Given the description of an element on the screen output the (x, y) to click on. 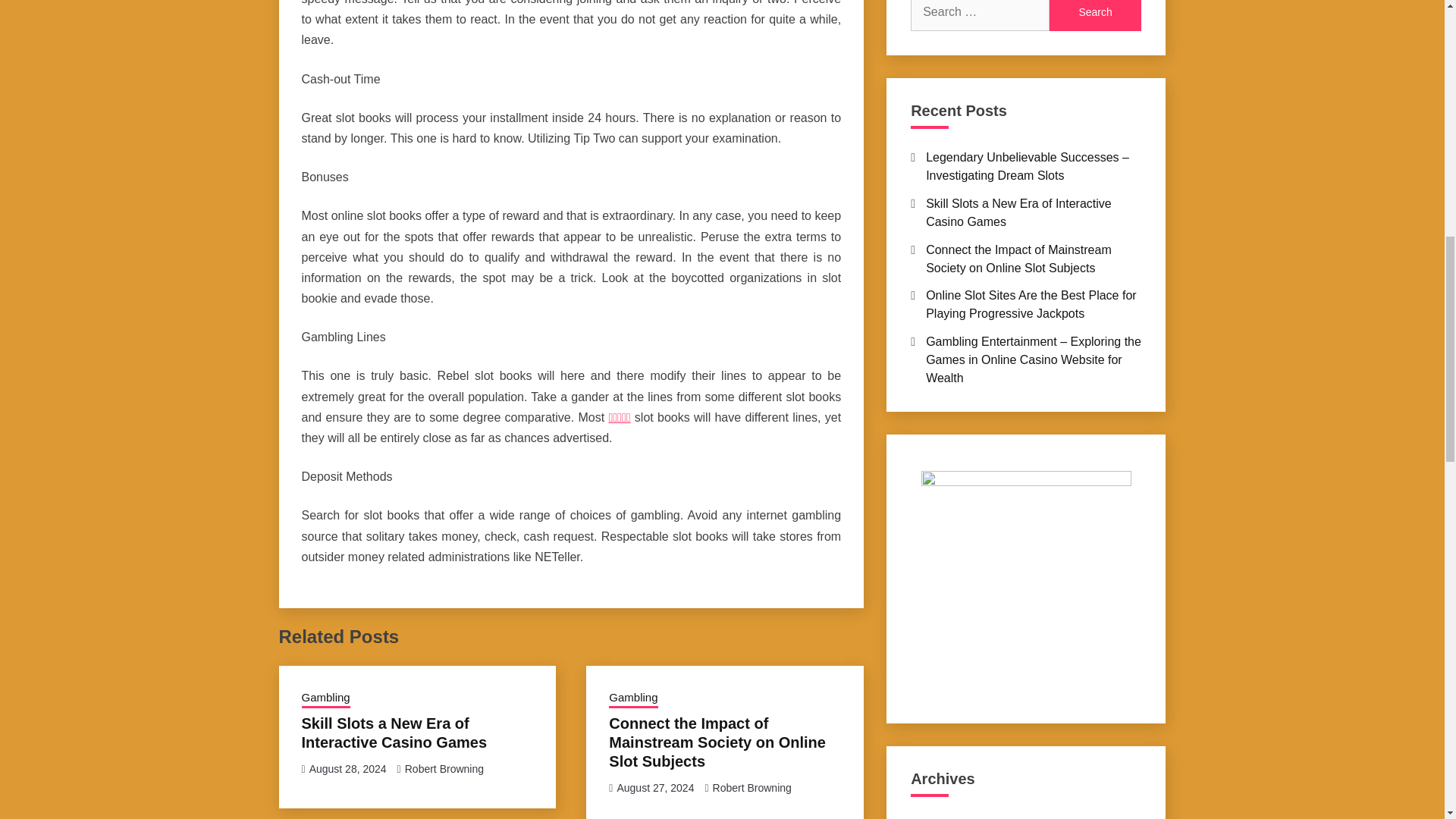
Search (1095, 15)
Robert Browning (752, 787)
Search (1095, 15)
Skill Slots a New Era of Interactive Casino Games (394, 732)
Robert Browning (443, 768)
Gambling (633, 699)
August 28, 2024 (347, 768)
August 27, 2024 (654, 787)
Gambling (325, 699)
